Given the description of an element on the screen output the (x, y) to click on. 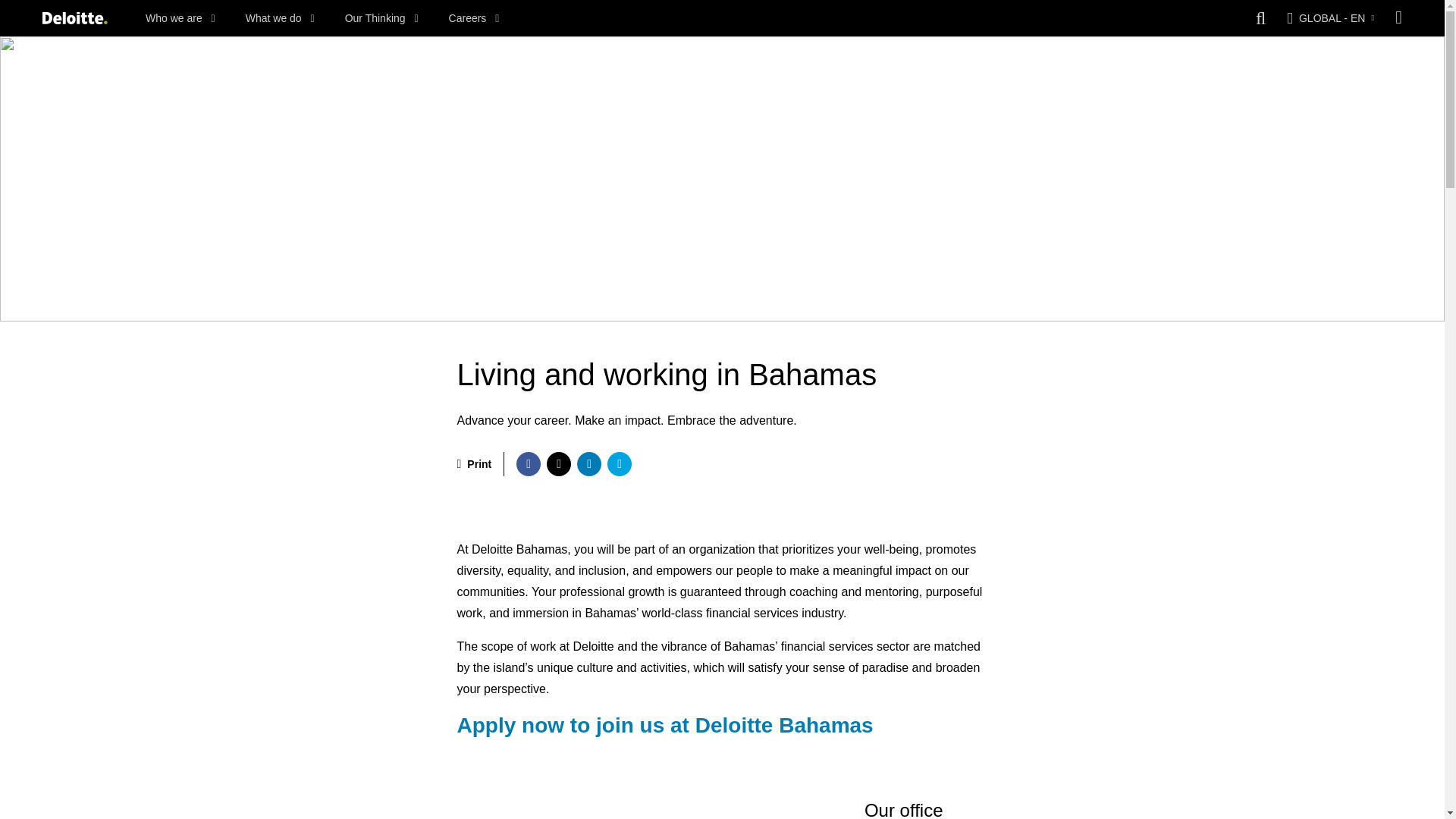
Who we are (180, 18)
share via email (619, 463)
Our Thinking (382, 18)
Careers (473, 18)
share via twitter (558, 463)
share via linkedin (588, 463)
share via facebook (528, 463)
Deloitte (74, 18)
Print (474, 463)
What we do (280, 18)
